Given the description of an element on the screen output the (x, y) to click on. 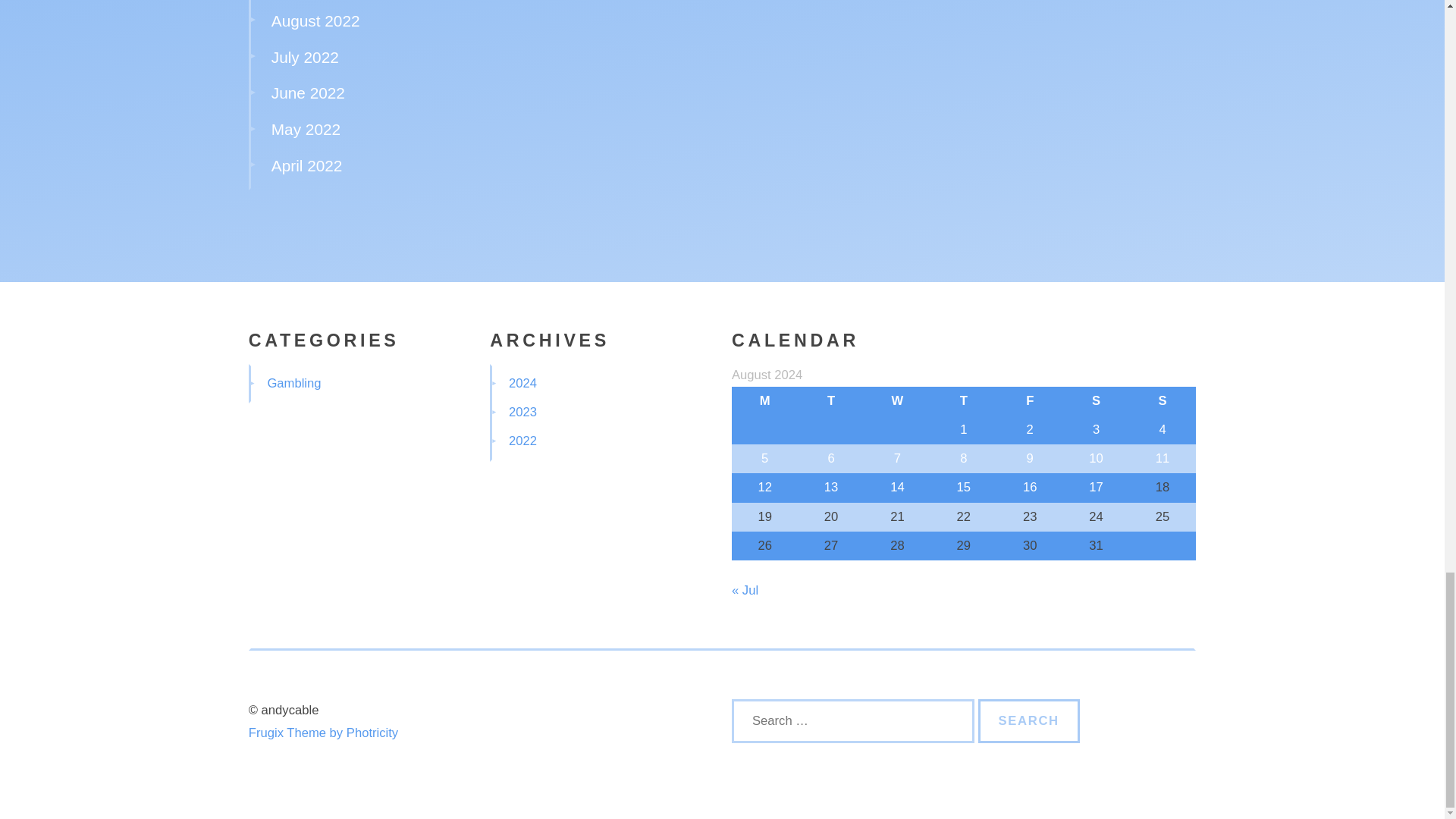
Saturday (1095, 399)
April 2022 (306, 165)
August 2022 (314, 20)
Wednesday (897, 399)
Search (1029, 720)
July 2022 (304, 57)
Sunday (1162, 399)
June 2022 (307, 92)
Friday (1029, 399)
May 2022 (305, 129)
